Given the description of an element on the screen output the (x, y) to click on. 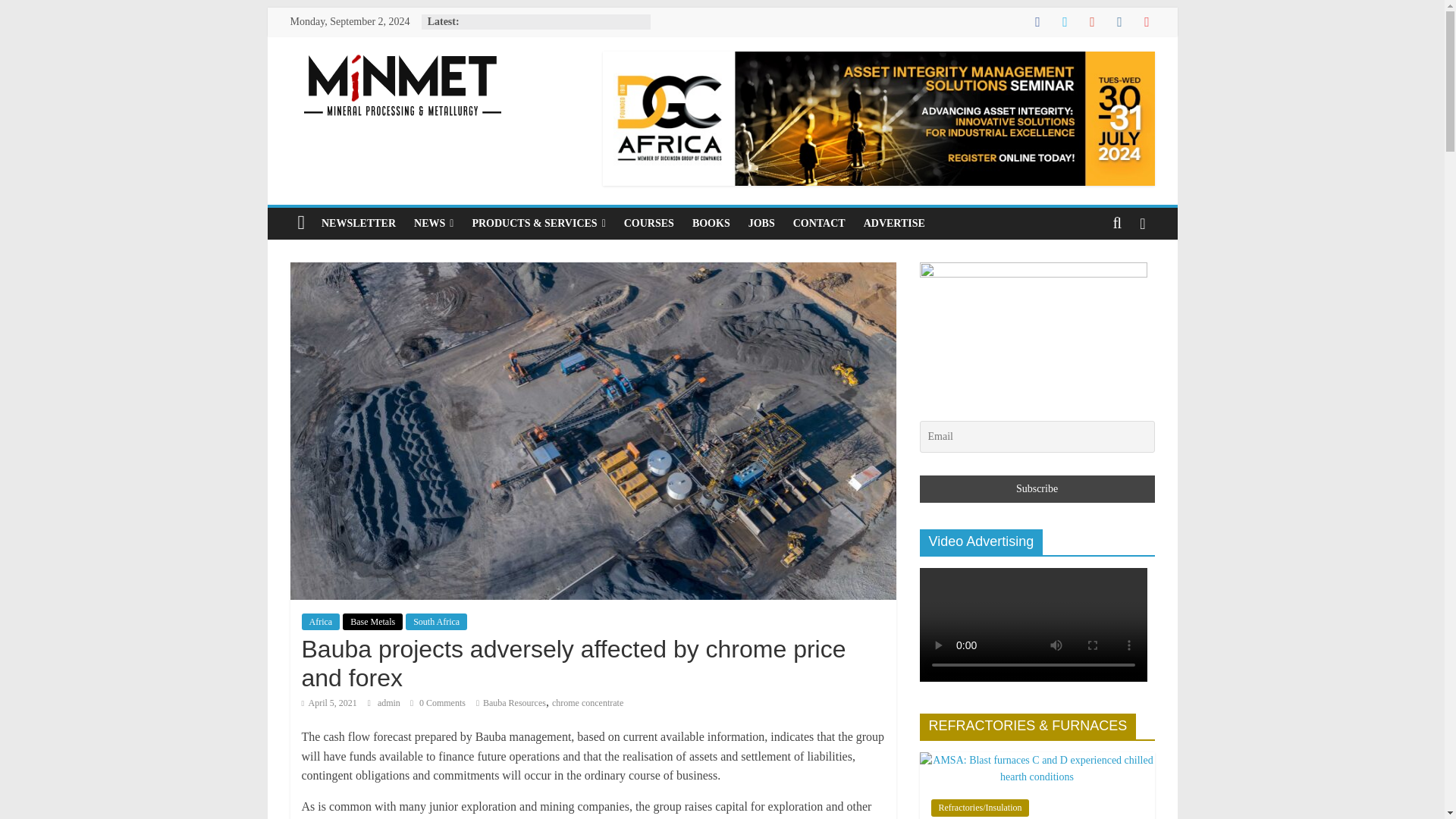
CONTACT (819, 223)
Africa (320, 621)
ADVERTISE (894, 223)
admin (390, 702)
April 5, 2021 (328, 702)
South Africa (436, 621)
JOBS (761, 223)
Subscribe (1036, 488)
NEWSLETTER (358, 223)
